Given the description of an element on the screen output the (x, y) to click on. 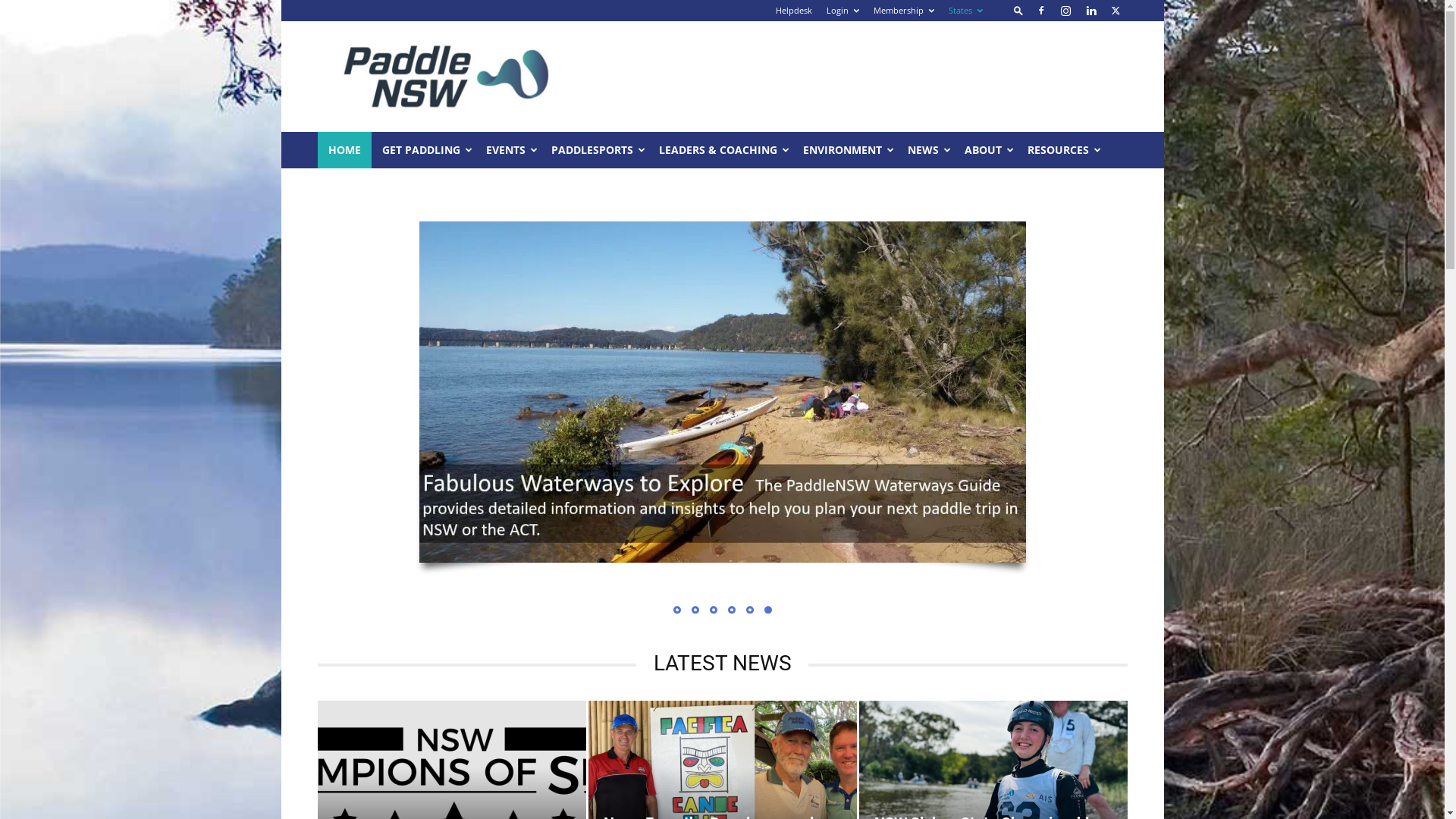
Login Element type: text (842, 9)
NEWS Element type: text (924, 149)
States Element type: text (964, 9)
Twitter Element type: hover (1115, 10)
Linkedin Element type: hover (1090, 10)
HOME Element type: text (343, 149)
Search Element type: text (1085, 64)
EVENTS Element type: text (506, 149)
Great Events Element type: hover (721, 391)
GET PADDLING Element type: text (423, 149)
Membership Element type: text (903, 9)
Helpdesk Element type: text (793, 9)
ABOUT Element type: text (984, 149)
LEADERS & COACHING Element type: text (719, 149)
PADDLESPORTS Element type: text (593, 149)
ENVIRONMENT Element type: text (843, 149)
Instagram Element type: hover (1065, 10)
RESOURCES Element type: text (1059, 149)
Facebook Element type: hover (1040, 10)
